Given the description of an element on the screen output the (x, y) to click on. 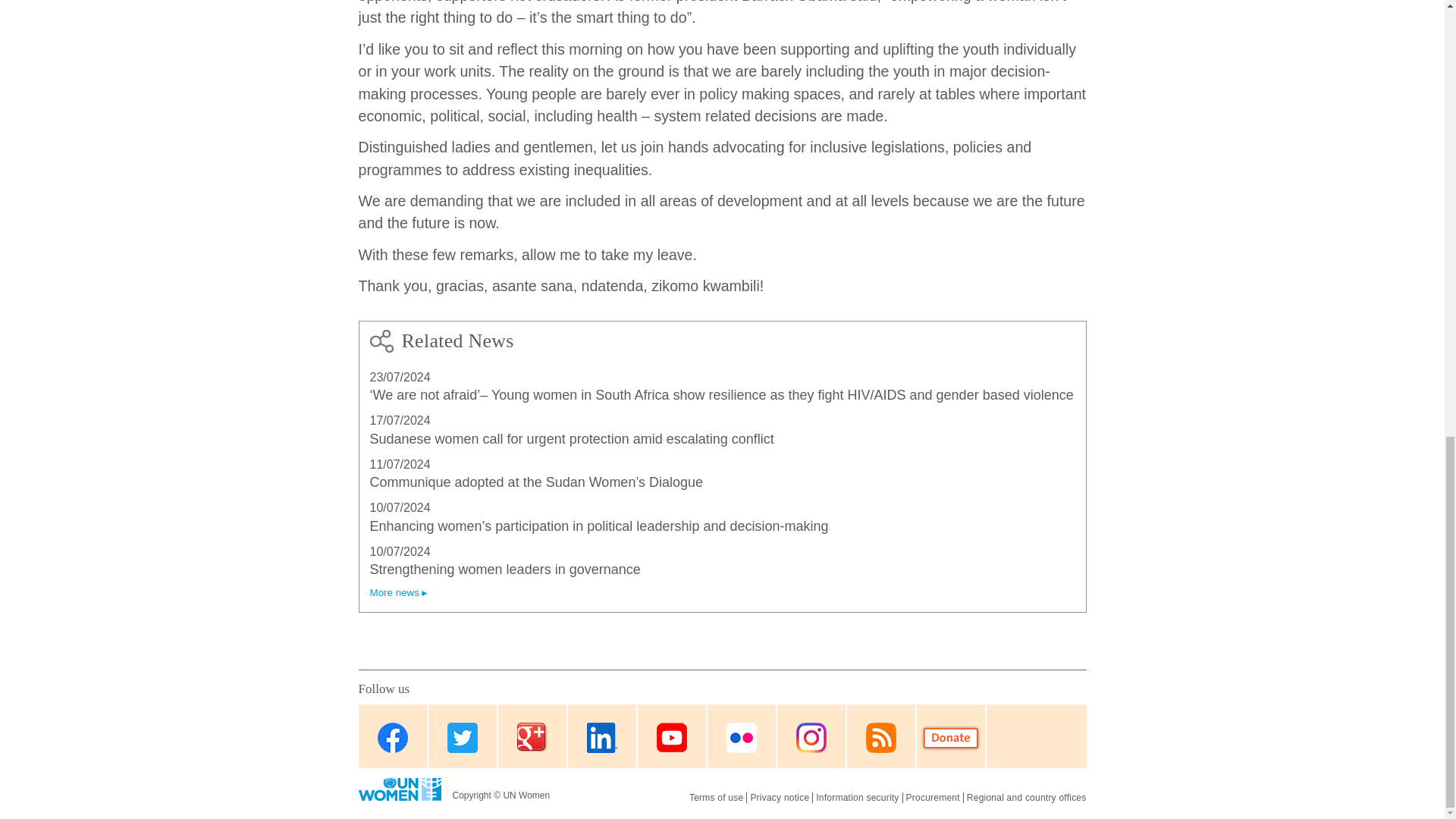
News feed (879, 737)
Information security (856, 797)
UN Women (399, 788)
